Given the description of an element on the screen output the (x, y) to click on. 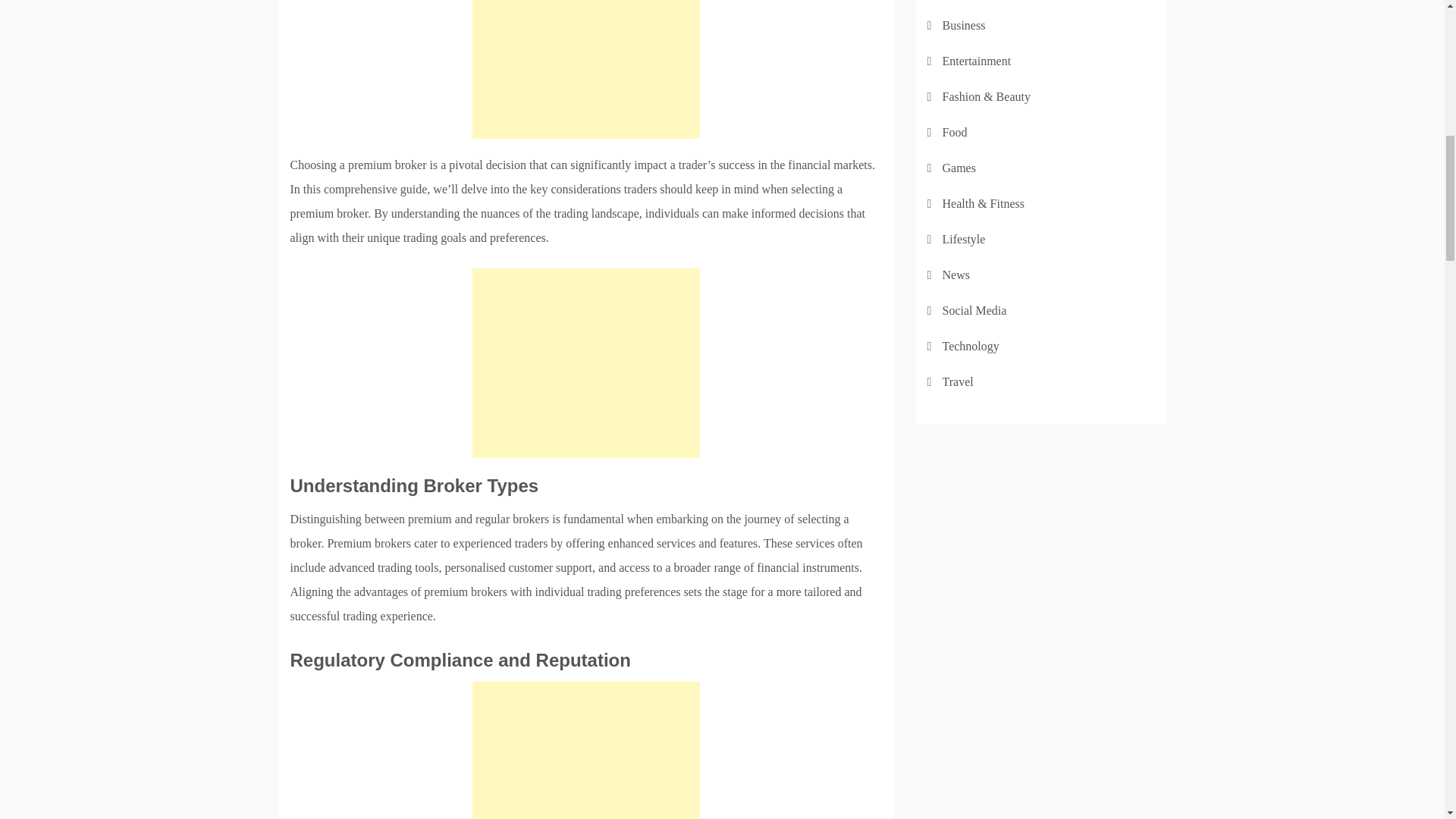
Advertisement (584, 362)
Games (958, 167)
Entertainment (976, 60)
Advertisement (584, 750)
Lifestyle (963, 238)
News (955, 274)
Food (954, 132)
Advertisement (584, 69)
Business (963, 24)
